Given the description of an element on the screen output the (x, y) to click on. 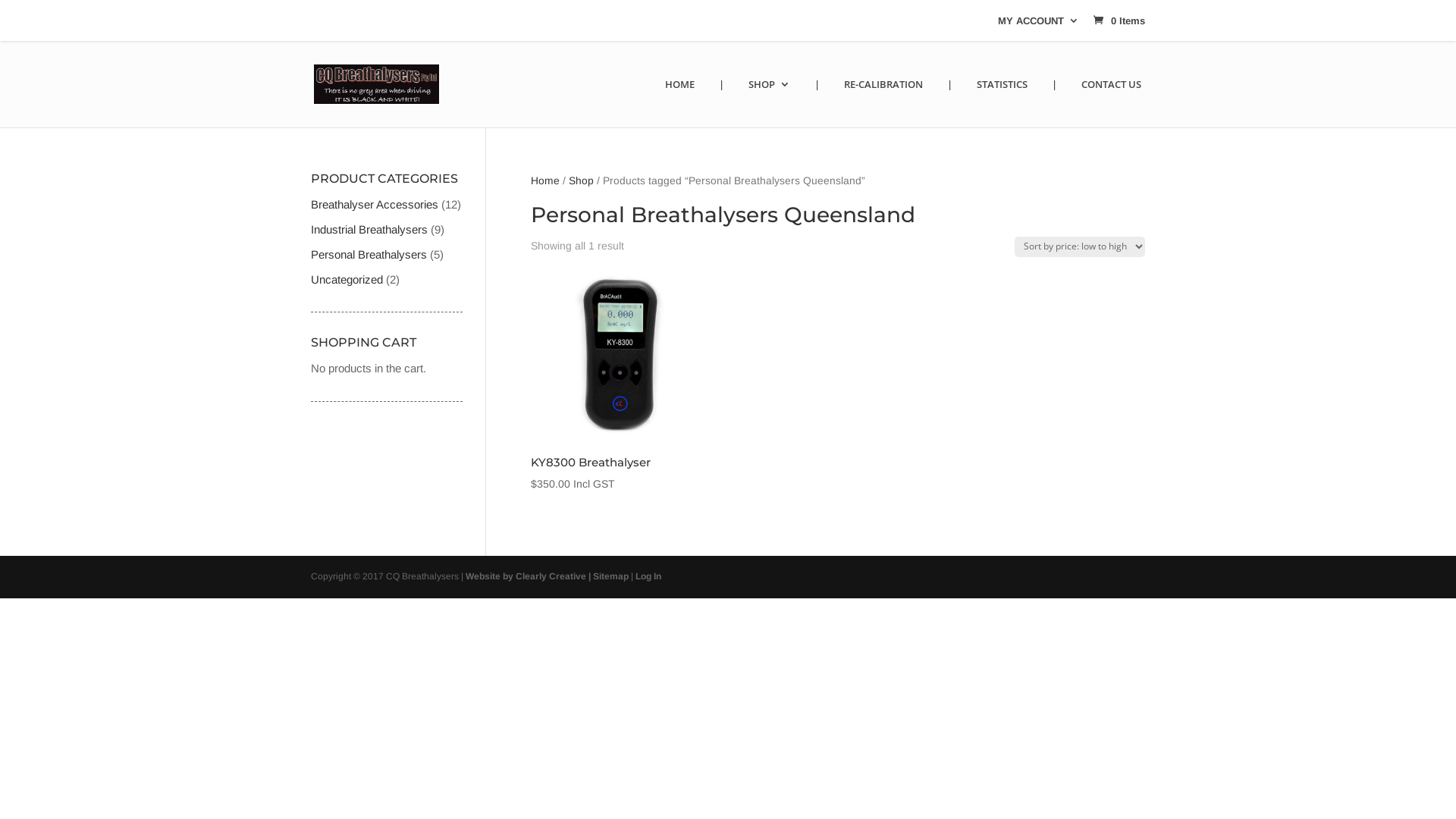
| Element type: text (816, 102)
Personal Breathalysers Element type: text (368, 253)
Shop Element type: text (580, 180)
Uncategorized Element type: text (346, 279)
STATISTICS Element type: text (1001, 102)
Sitemap Element type: text (610, 576)
SHOP Element type: text (769, 102)
| Element type: text (721, 102)
MY ACCOUNT Element type: text (1038, 24)
CONTACT US Element type: text (1111, 102)
Breathalyser Accessories Element type: text (374, 203)
KY8300 Breathalyser
$350.00 Incl GST Element type: text (617, 380)
Industrial Breathalysers Element type: text (368, 228)
Website by Clearly Creative | Element type: text (529, 576)
KY8300 Breathalyser Element type: hover (617, 355)
| Element type: text (949, 102)
Log In Element type: text (648, 576)
HOME Element type: text (679, 102)
0 Items Element type: text (1117, 20)
Home Element type: text (544, 180)
RE-CALIBRATION Element type: text (883, 102)
| Element type: text (1054, 102)
